Given the description of an element on the screen output the (x, y) to click on. 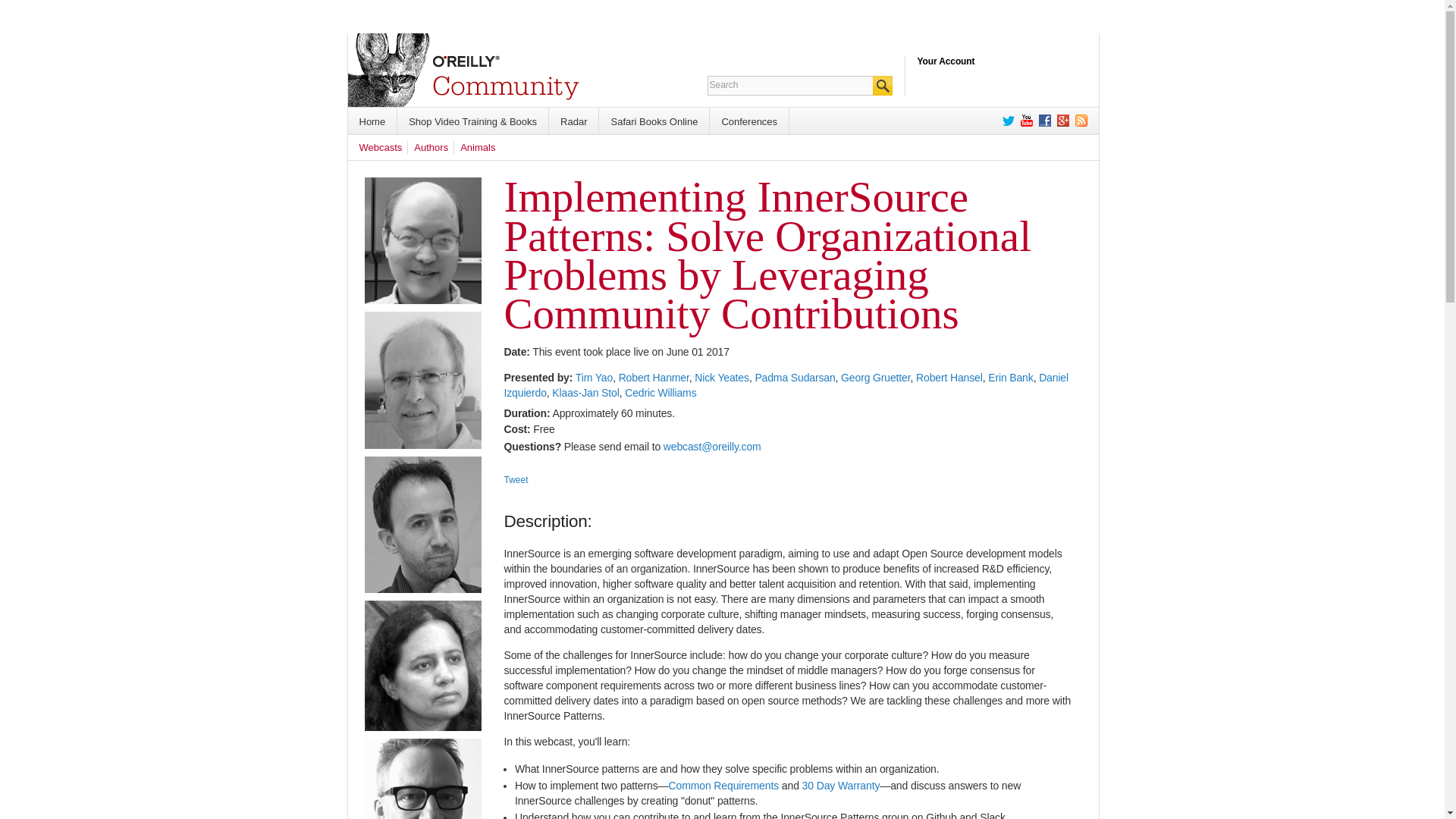
Safari Books Online (653, 121)
Subscribe to Feed (1077, 120)
Robert Hansel (948, 377)
Animals (477, 147)
Your Account (946, 61)
Klaas-Jan Stol (584, 392)
Authors (430, 147)
O'Reilly on Twitter (1004, 120)
O'Reilly on YouTube (1023, 120)
Radar (573, 121)
Nick Yeates (721, 377)
Common Requirements (723, 785)
Robert Hanmer (653, 377)
30 Day Warranty (841, 785)
Georg Gruetter (875, 377)
